Given the description of an element on the screen output the (x, y) to click on. 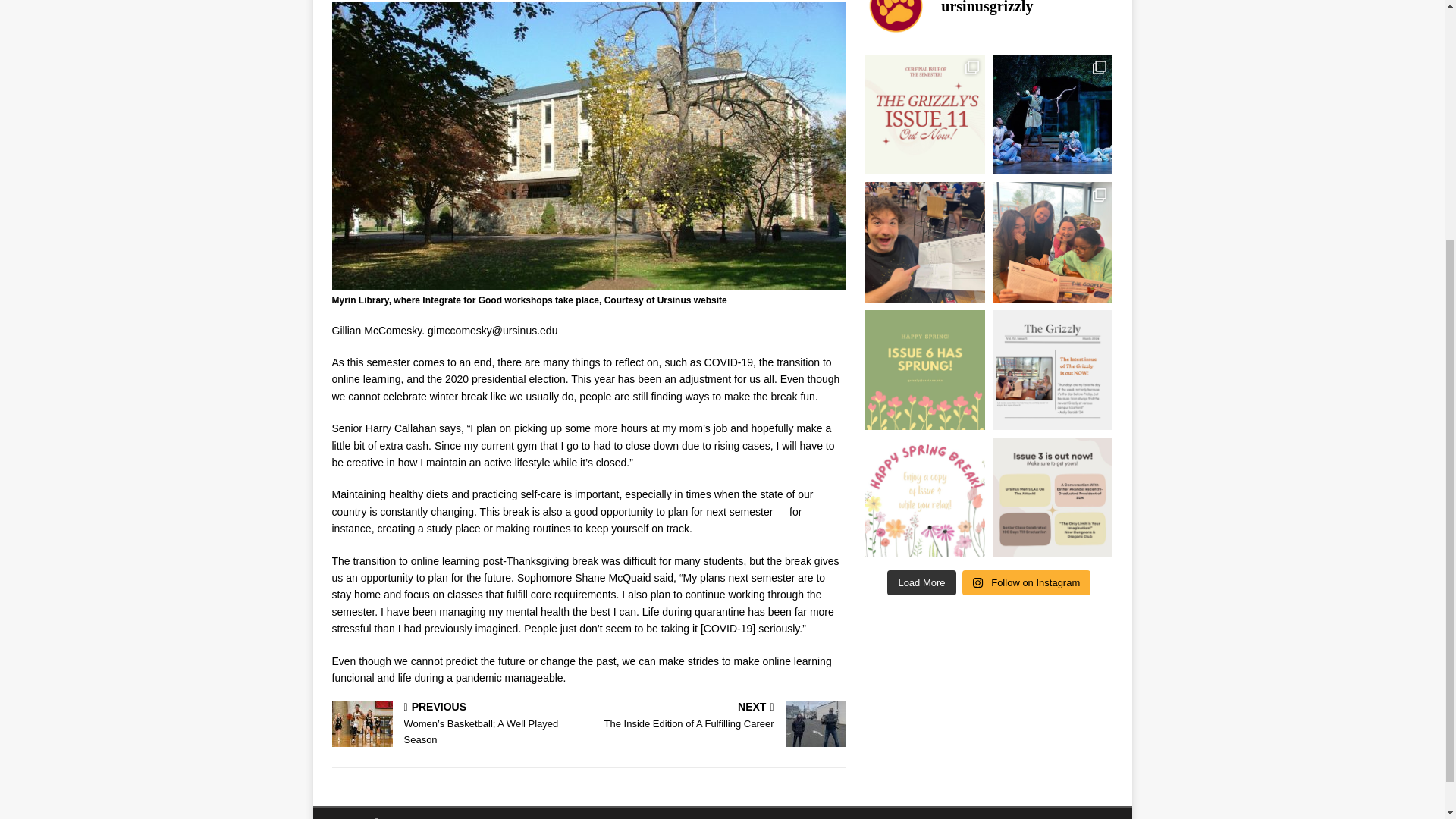
ursinusgrizzly (988, 18)
Load More (920, 583)
